Given the description of an element on the screen output the (x, y) to click on. 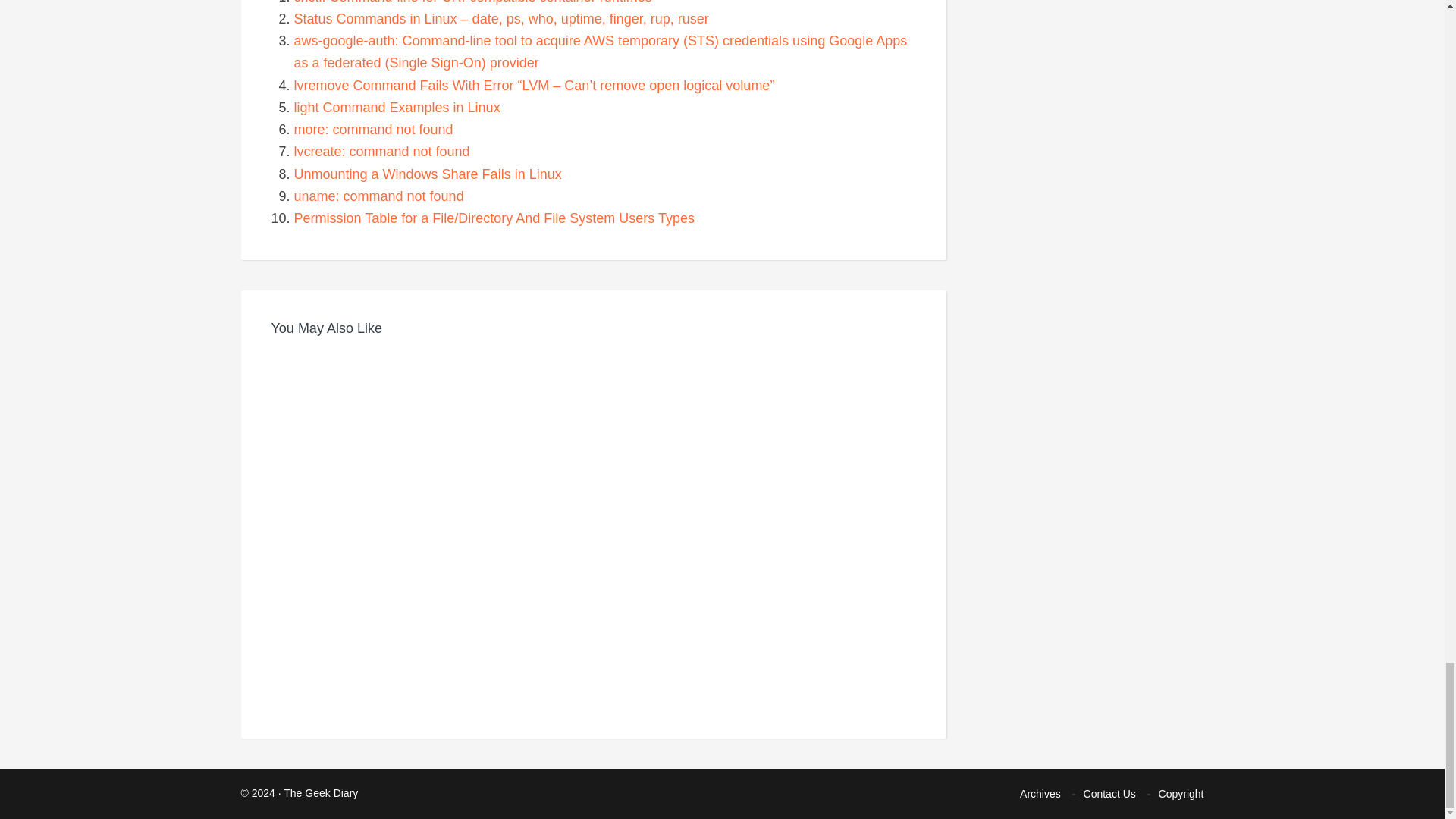
Permanent Link tolight Command Examples in Linux (397, 107)
light Command Examples in Linux (397, 107)
lvcreate: command not found (382, 151)
Unmounting a Windows Share Fails in Linux (428, 173)
uname: command not found (379, 196)
Archives (1040, 793)
Permanent Link touname: command not found (379, 196)
Permanent Link tomore: command not found (373, 129)
crictl: Command-line for CRI-compatible container runtimes (473, 2)
